Given the description of an element on the screen output the (x, y) to click on. 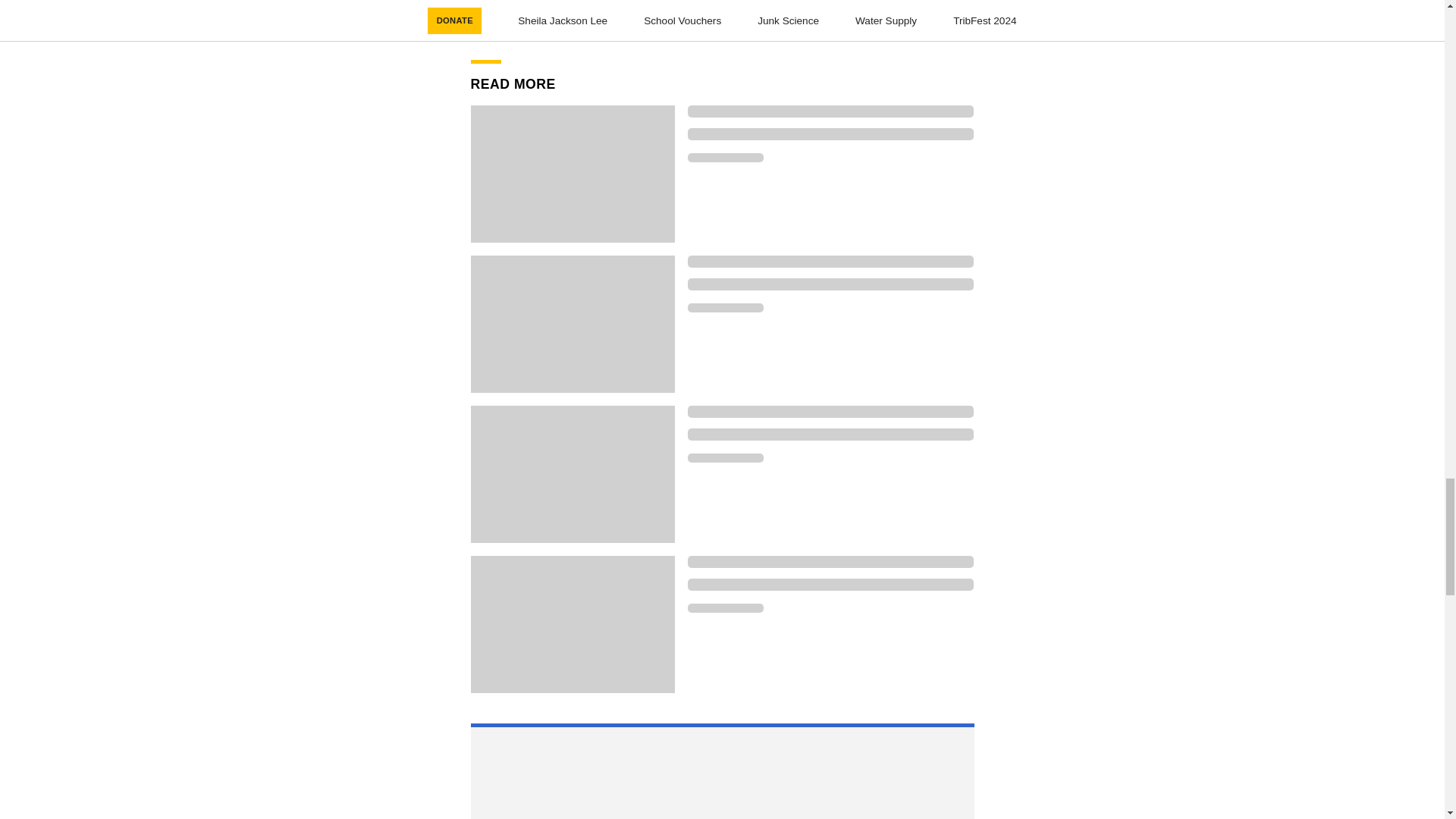
Loading indicator (830, 584)
Loading indicator (830, 434)
Loading indicator (830, 562)
Loading indicator (830, 111)
Loading indicator (830, 133)
Loading indicator (830, 261)
Loading indicator (724, 307)
Loading indicator (724, 457)
Loading indicator (724, 607)
Loading indicator (724, 157)
Loading indicator (830, 284)
Loading indicator (830, 411)
